Given the description of an element on the screen output the (x, y) to click on. 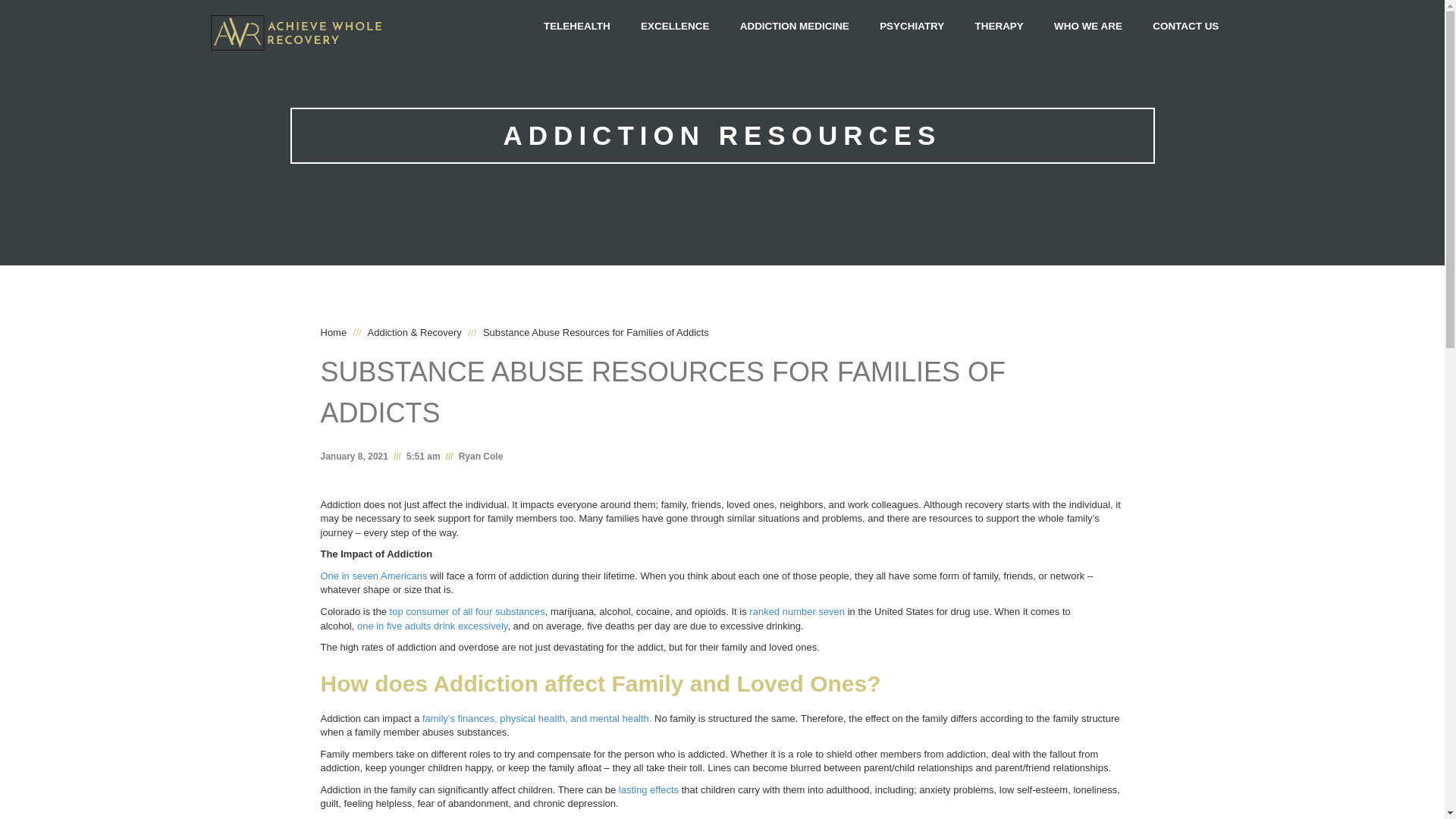
CONTACT US (1185, 26)
PSYCHIATRY (911, 26)
EXCELLENCE (675, 26)
TELEHEALTH (577, 26)
THERAPY (999, 26)
WHO WE ARE (1088, 26)
ADDICTION MEDICINE (794, 26)
